Given the description of an element on the screen output the (x, y) to click on. 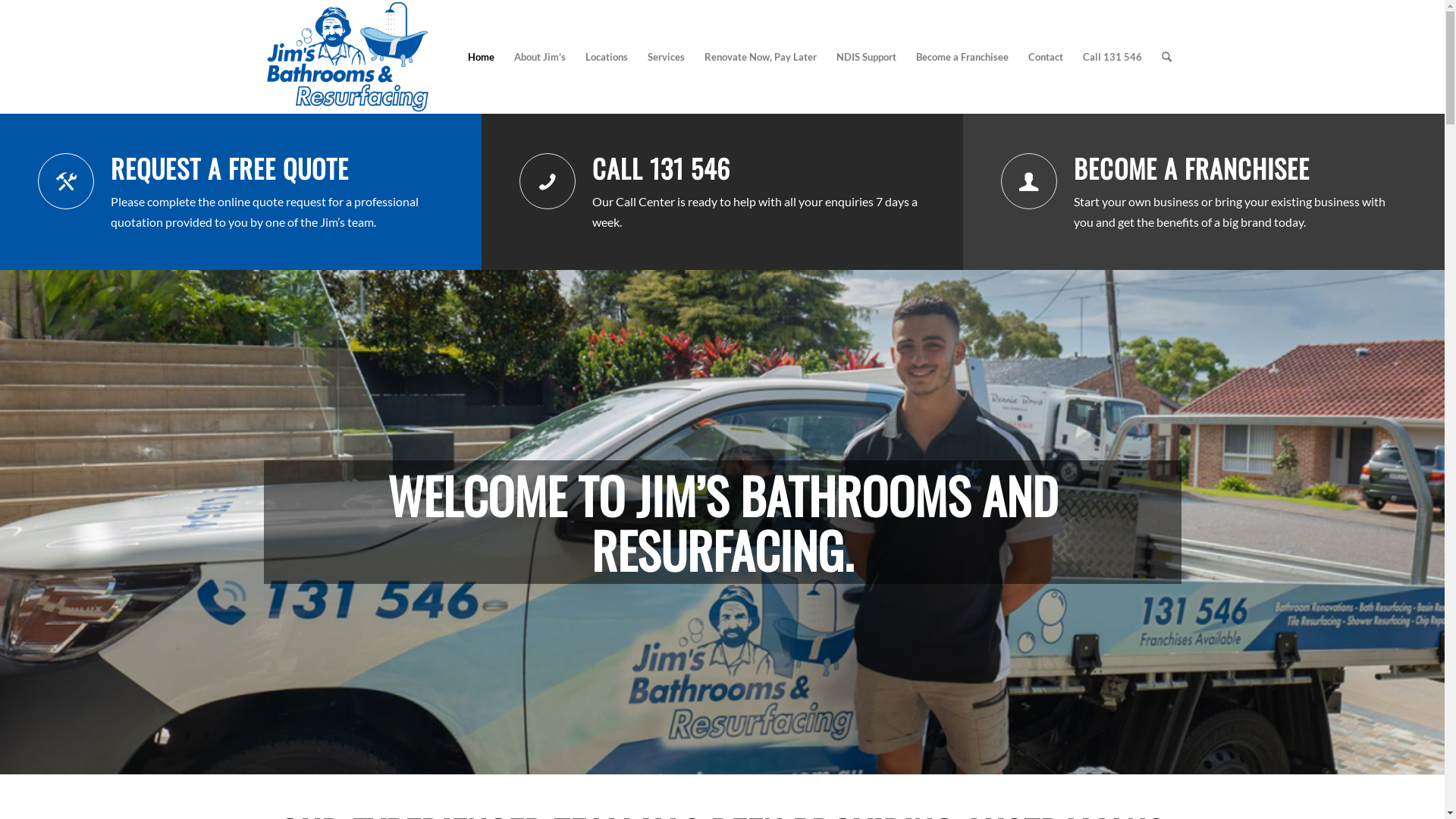
Home Element type: text (481, 56)
Become a Franchisee Element type: text (961, 56)
Services Element type: text (665, 56)
Become a Franchisee Element type: hover (1029, 181)
Call 131 546 Element type: text (1111, 56)
REQUEST A FREE QUOTE Element type: text (229, 167)
slide1 Element type: hover (722, 522)
Call 131 546 Element type: hover (547, 181)
Locations Element type: text (605, 56)
Request A Free Quote Element type: hover (65, 181)
NDIS Support Element type: text (866, 56)
CALL 131 546 Element type: text (661, 167)
BECOME A FRANCHISEE Element type: text (1191, 167)
Renovate Now, Pay Later Element type: text (760, 56)
Contact Element type: text (1044, 56)
